Given the description of an element on the screen output the (x, y) to click on. 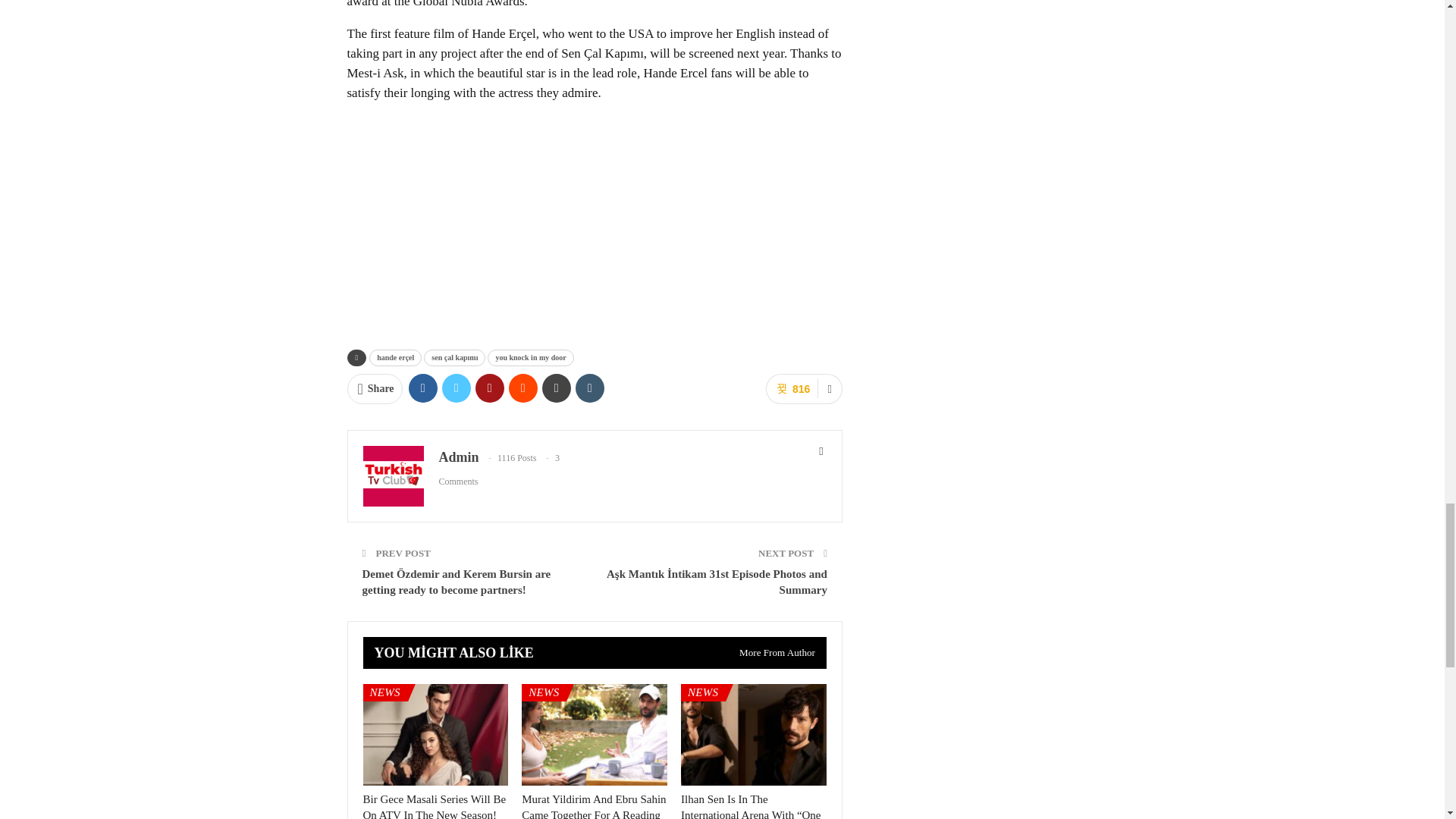
Bir Gece Masali series will be on ATV in the new season! (433, 806)
Bir Gece Masali series will be on ATV in the new season! (435, 734)
Advertisement (595, 222)
